Given the description of an element on the screen output the (x, y) to click on. 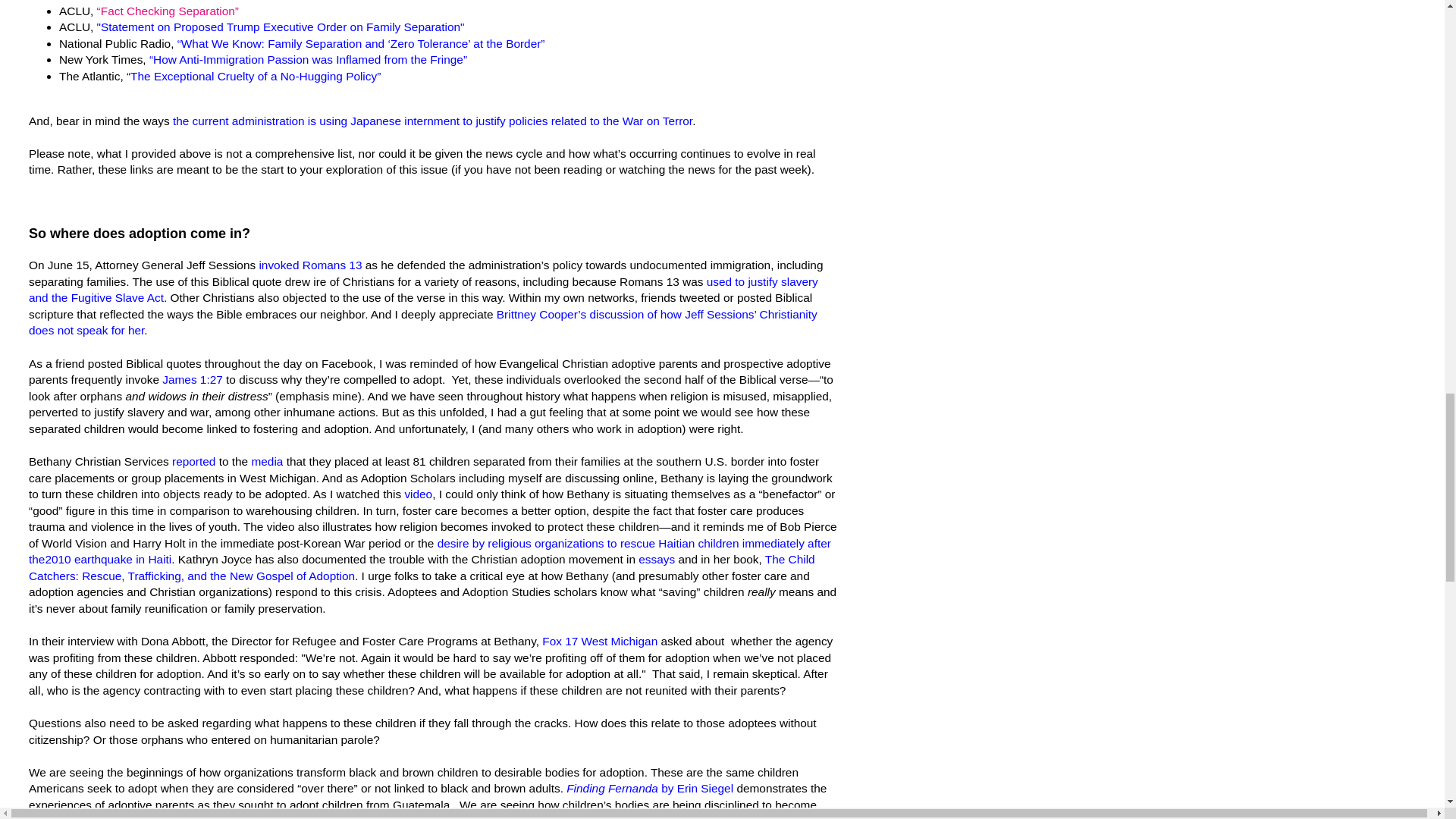
invoked Romans 13 (310, 264)
